Given the description of an element on the screen output the (x, y) to click on. 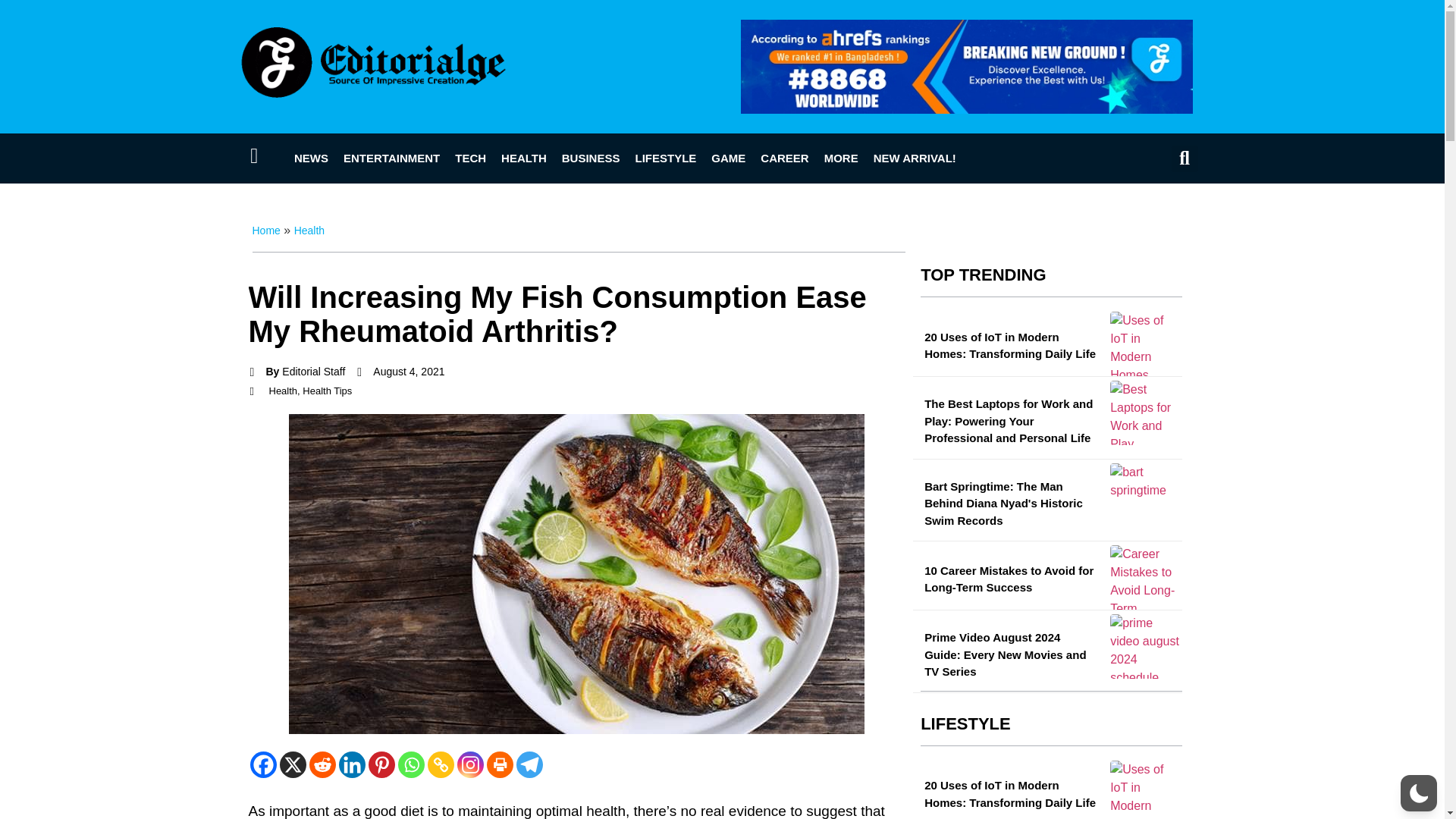
LIFESTYLE (665, 158)
Reddit (322, 764)
Pinterest (381, 764)
X (292, 764)
GAME (727, 158)
NEWS (311, 158)
ENTERTAINMENT (391, 158)
Telegram (528, 764)
Copy Link (441, 764)
Facebook (263, 764)
Whatsapp (410, 764)
HEALTH (523, 158)
Instagram (470, 764)
Print (499, 764)
Linkedin (351, 764)
